Given the description of an element on the screen output the (x, y) to click on. 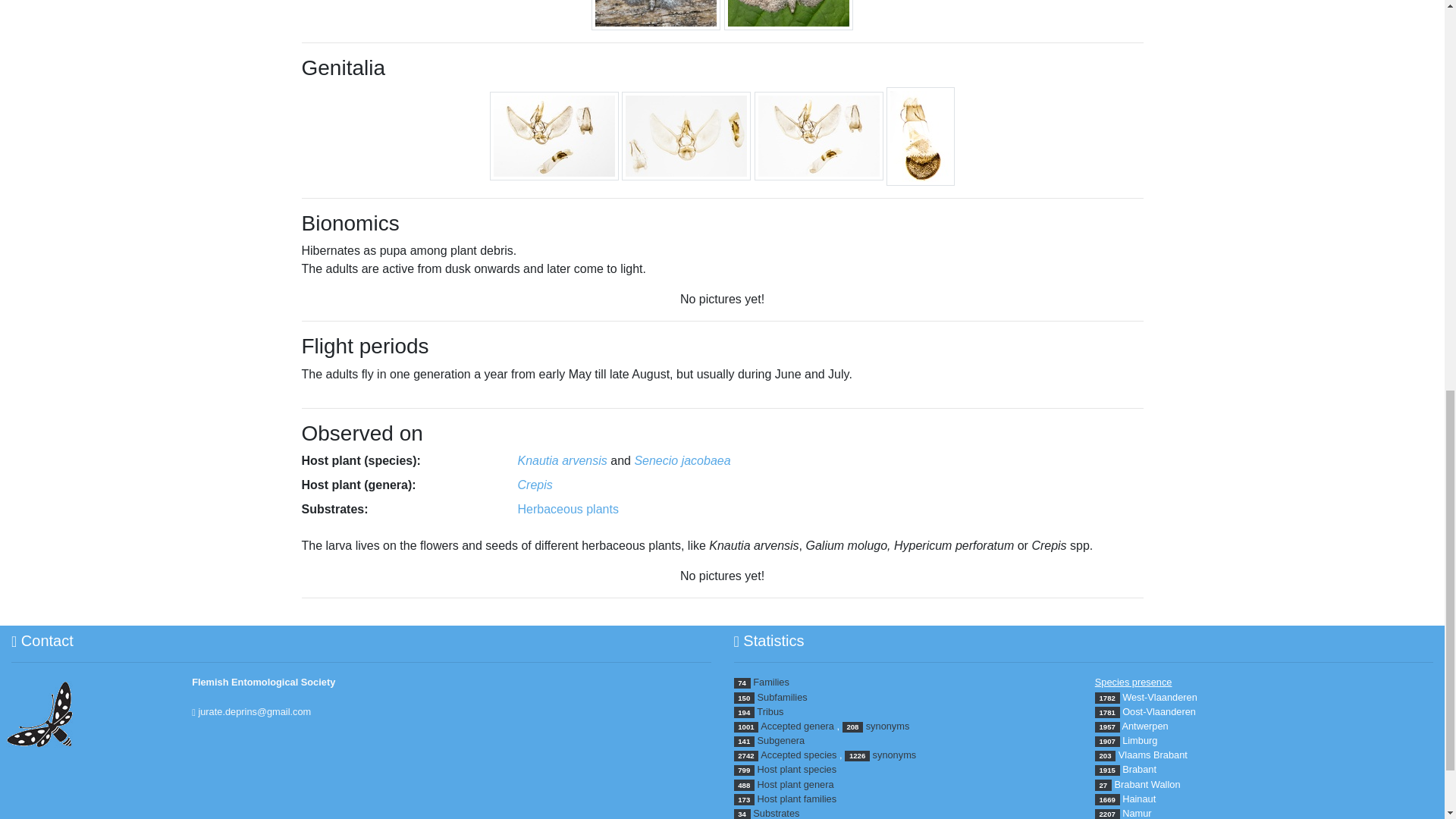
synonyms (894, 754)
Knautia arvensis (561, 460)
Subfamilies (782, 696)
Host plant genera (795, 784)
Senecio jacobaea (681, 460)
Accepted genera (797, 726)
Crepis (533, 484)
Herbaceous plants (566, 508)
Subgenera (781, 740)
Flemish Entomological Society (263, 681)
Tribus (770, 711)
synonyms (888, 726)
Host plant families (797, 798)
Accepted species (797, 754)
Host plant species (797, 768)
